Given the description of an element on the screen output the (x, y) to click on. 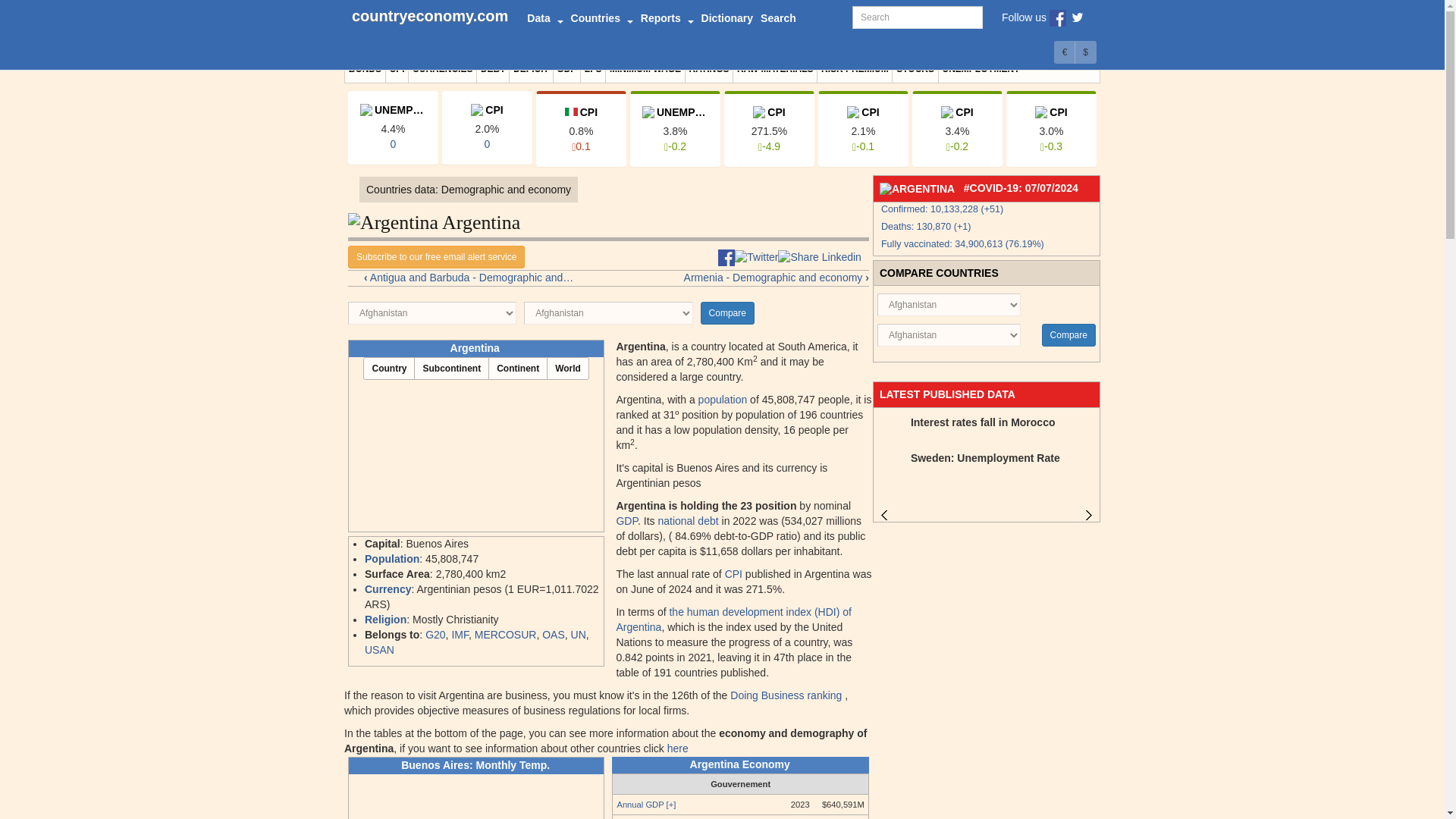
NMW - National Minimum Wage (644, 68)
Dictionary (727, 18)
Displays data in euros (1064, 51)
Countries (602, 18)
Data (544, 18)
Global Stock Market Indexes (914, 68)
Search (778, 18)
CURRENCIES (442, 68)
Facebook (1057, 17)
Home (429, 18)
United Kingdom - Unemployment Rate (392, 127)
Reports (667, 18)
CPI (397, 68)
Labour Force Survey - LFS (592, 68)
